Given the description of an element on the screen output the (x, y) to click on. 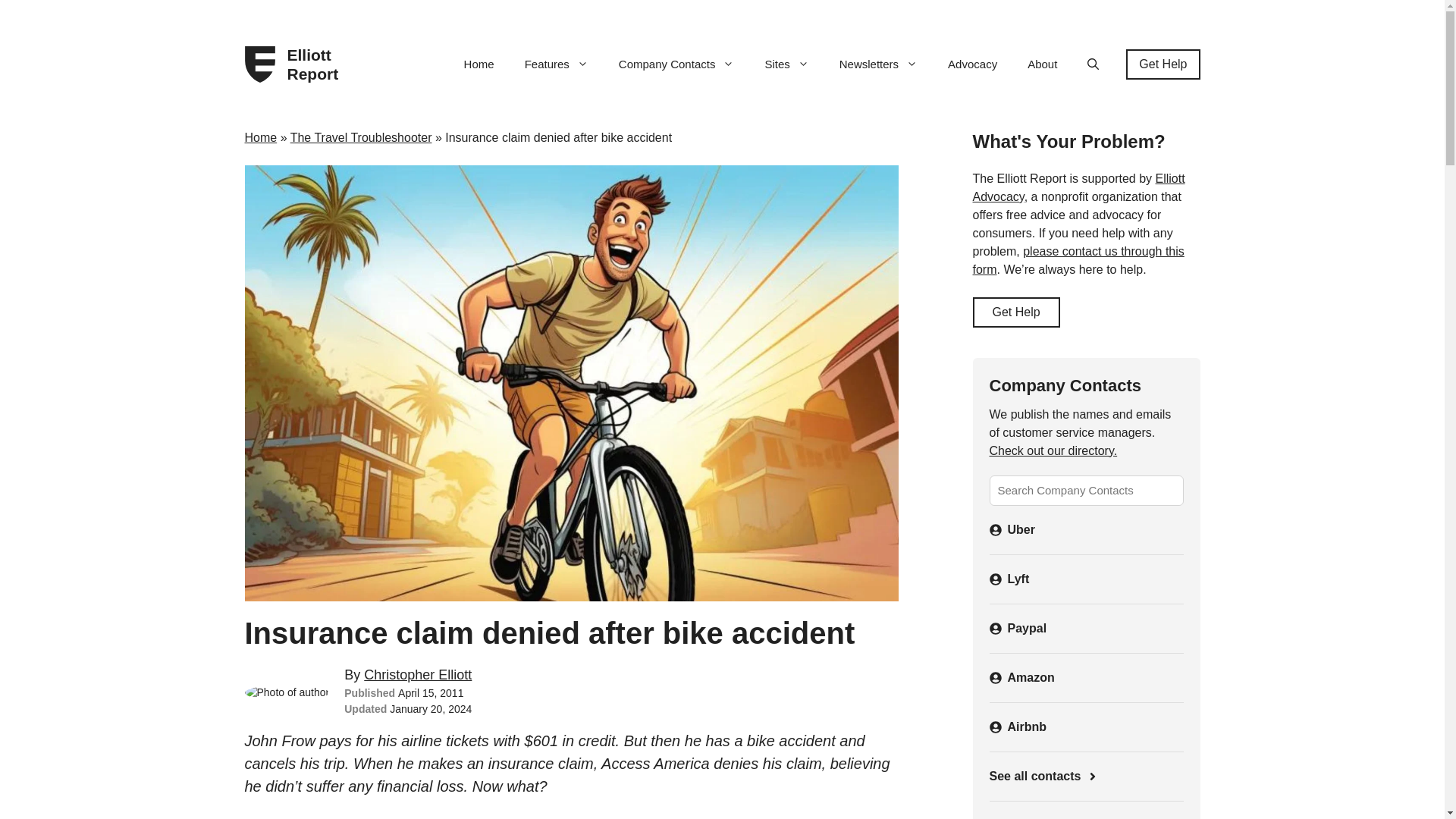
Get Help (1162, 64)
Home (478, 64)
Newsletters (878, 64)
Features (556, 64)
Advocacy (972, 64)
Advertisement (1085, 814)
About (1041, 64)
Company Contacts (676, 64)
Elliott Report (318, 64)
Sites (786, 64)
